Given the description of an element on the screen output the (x, y) to click on. 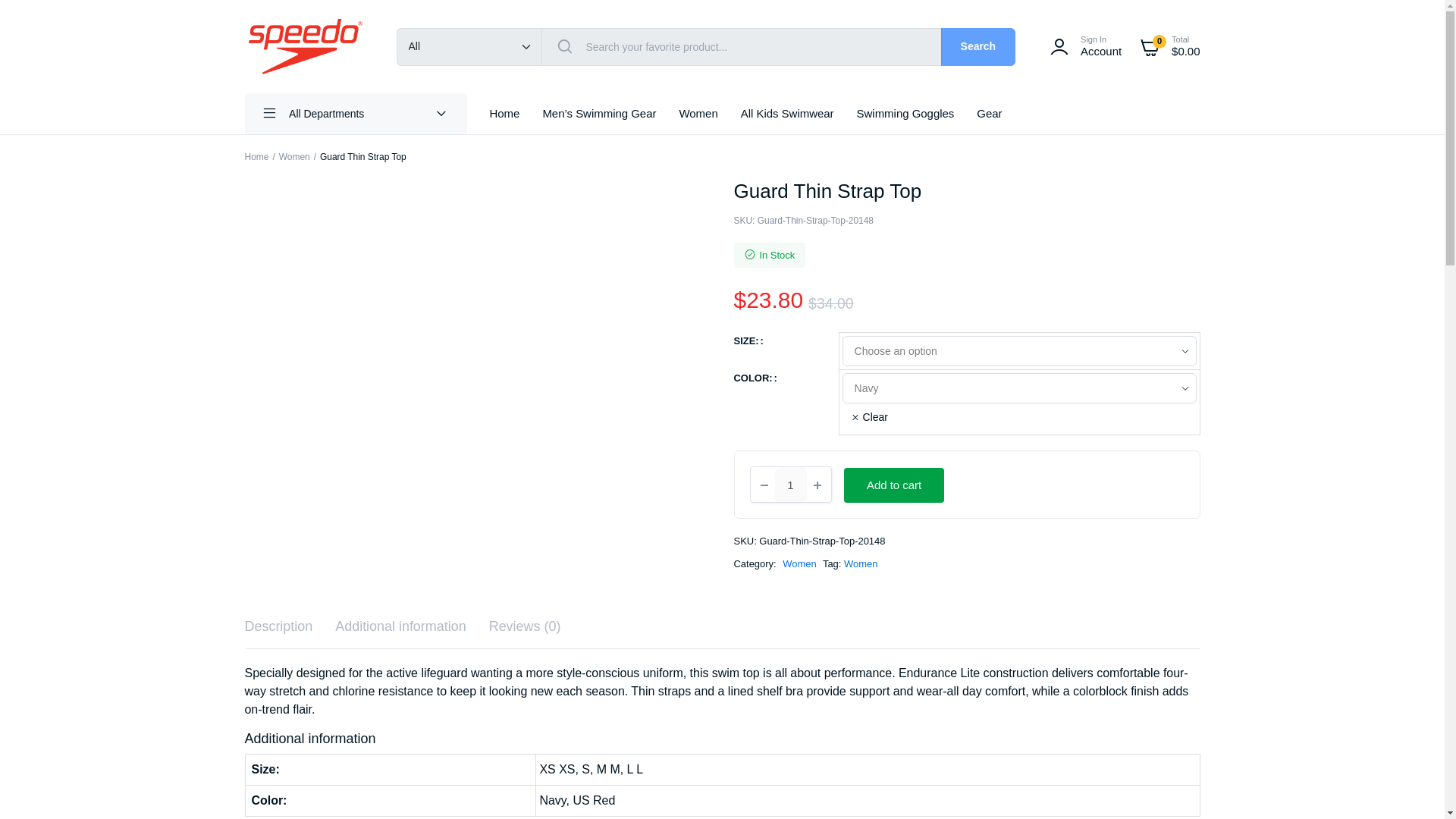
PJSPEEDOS (304, 46)
All Departments (354, 113)
Additional information (399, 626)
Swimming Goggles (1083, 46)
Women (905, 113)
Home (698, 113)
All Kids Swimwear (255, 156)
Search (787, 113)
Add to cart (978, 46)
